Given the description of an element on the screen output the (x, y) to click on. 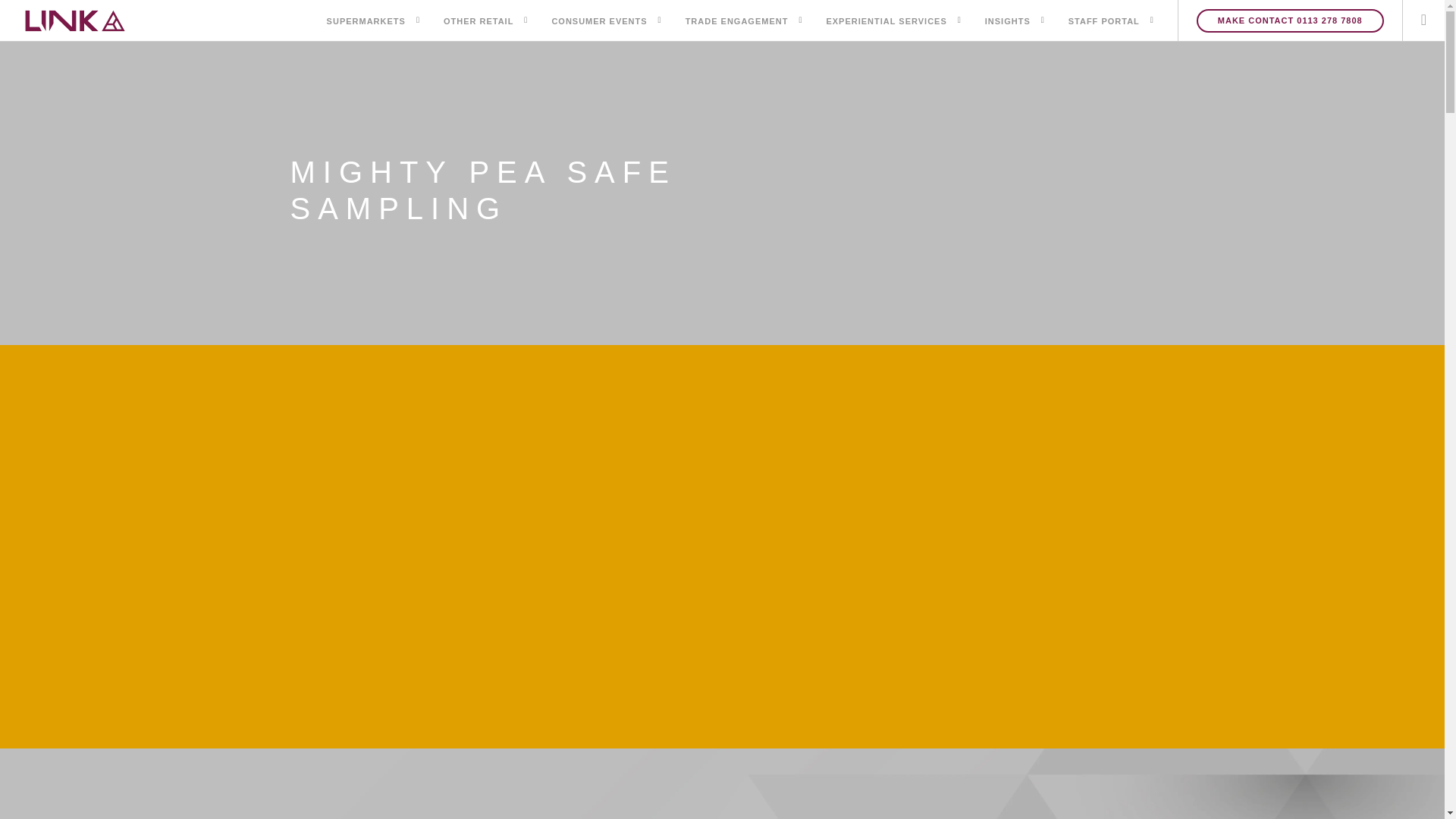
OTHER RETAIL (478, 22)
CONSUMER EVENTS (598, 22)
SUPERMARKETS (366, 22)
